Given the description of an element on the screen output the (x, y) to click on. 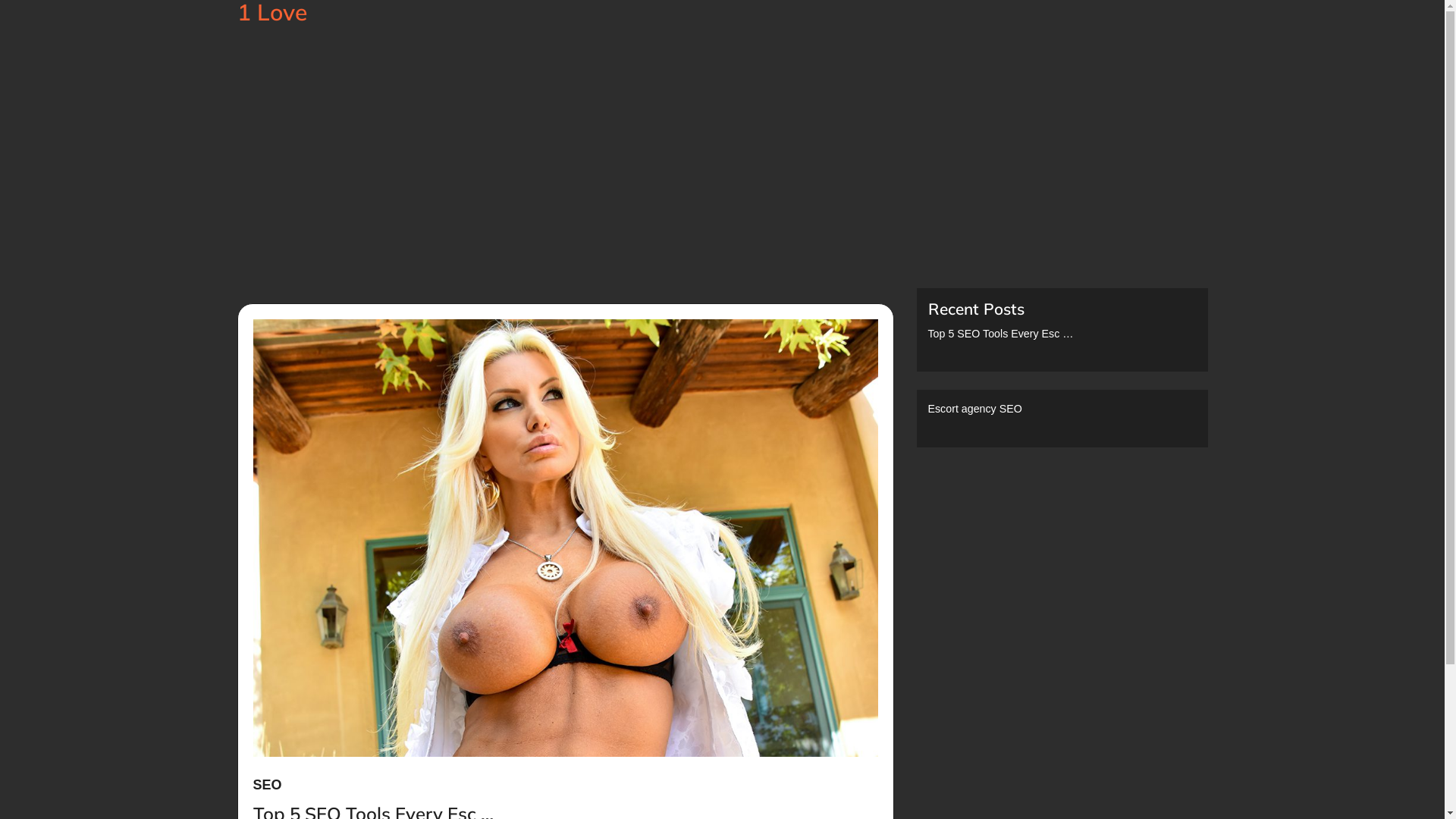
SEO Element type: text (267, 785)
Escort agency SEO Element type: text (975, 408)
